Given the description of an element on the screen output the (x, y) to click on. 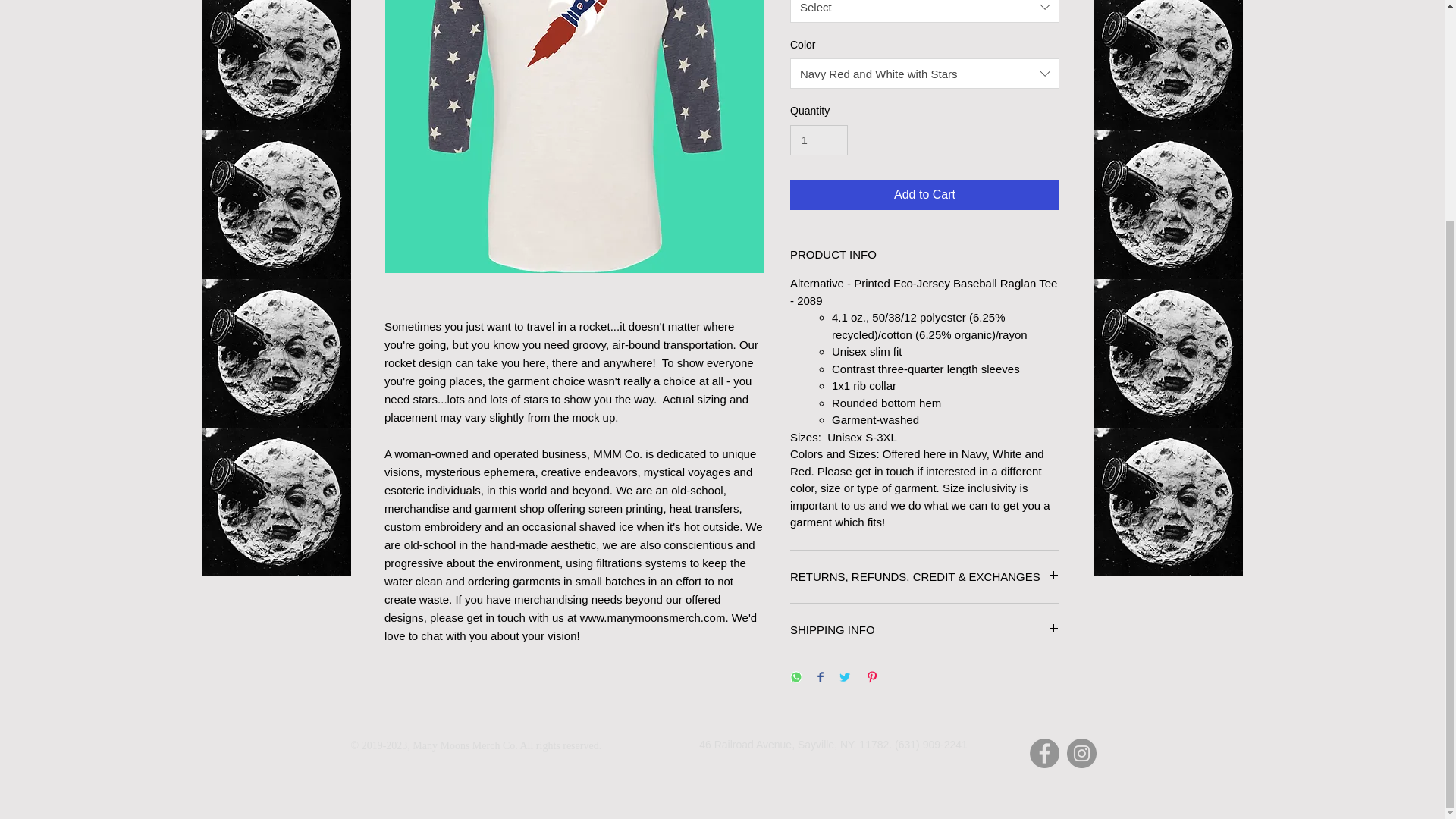
Add to Cart (924, 194)
1 (818, 140)
PRODUCT INFO (924, 254)
Select (924, 11)
SHIPPING INFO (924, 629)
Navy Red and White with Stars (924, 73)
